Given the description of an element on the screen output the (x, y) to click on. 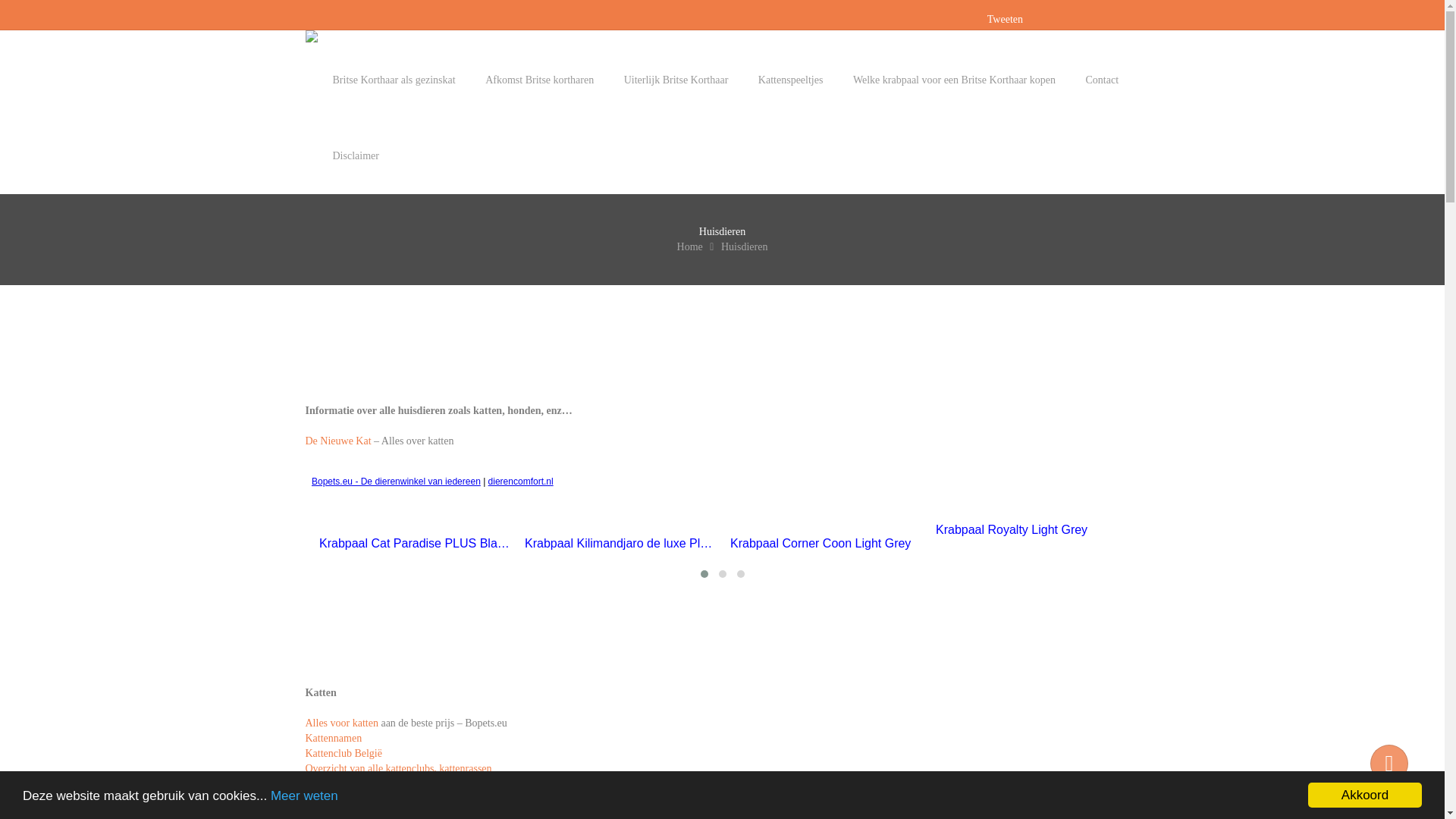
Afkomst Britse kortharen Element type: text (525, 80)
Welke krabpaal voor een Britse Korthaar kopen Element type: text (940, 80)
Britse kortharen Nederland Element type: text (362, 783)
Britse Korthaar als gezinskat Element type: text (379, 80)
De Nieuwe Kat Element type: text (337, 440)
Home Element type: text (692, 246)
Kattennamen Element type: text (332, 737)
Advertisement Element type: hover (580, 364)
Disclaimer Element type: text (341, 156)
Kattenspeeltjes Element type: text (777, 80)
Meer weten Element type: text (304, 795)
Contact Element type: text (1088, 80)
Overzicht van alle kattenclubs, kattenrassen Element type: text (397, 768)
Tweeten Element type: text (1004, 19)
Britse korthaar Belgie Element type: text (351, 798)
Alles voor katten Element type: text (340, 722)
Akkoord Element type: text (1364, 794)
Uiterlijk Britse Korthaar Element type: text (662, 80)
